Given the description of an element on the screen output the (x, y) to click on. 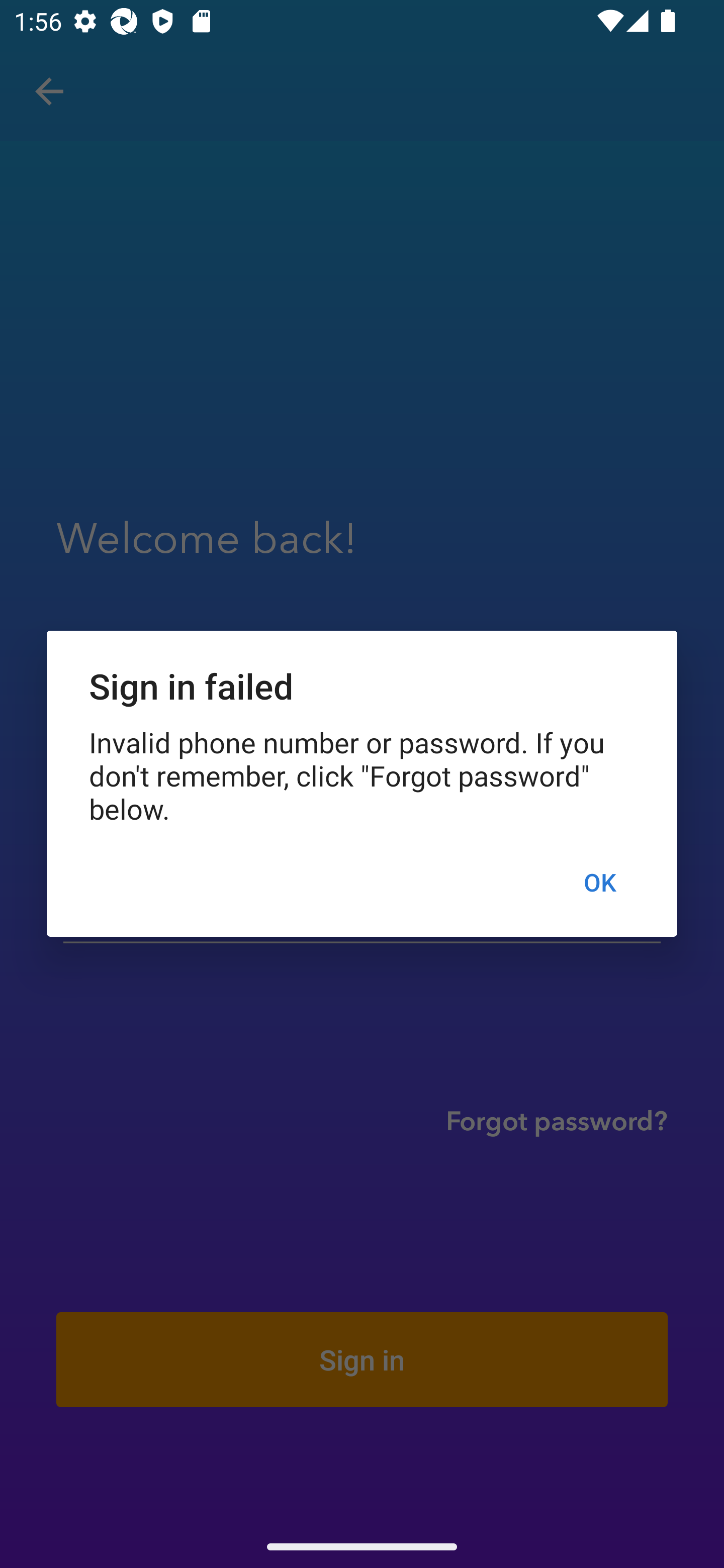
OK (599, 881)
